Given the description of an element on the screen output the (x, y) to click on. 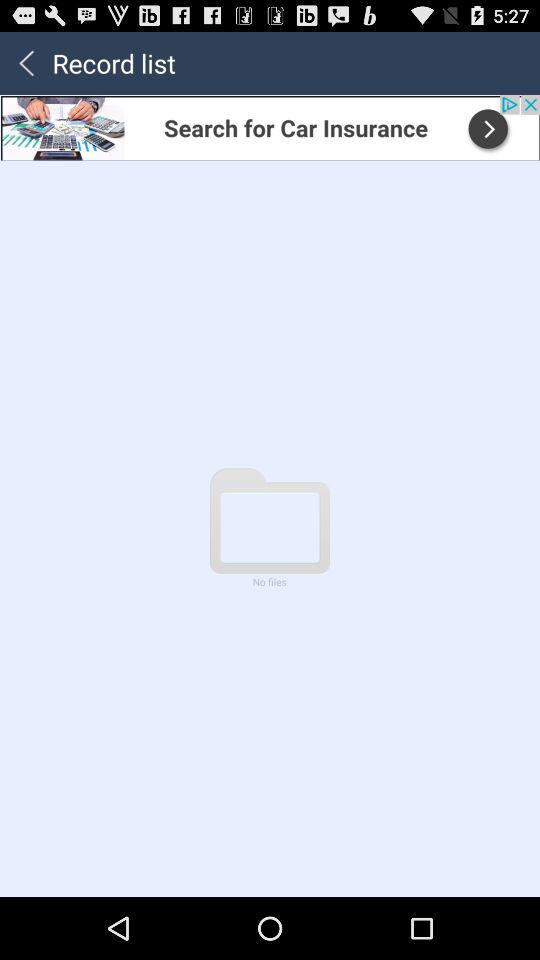
open advertisement (270, 127)
